Given the description of an element on the screen output the (x, y) to click on. 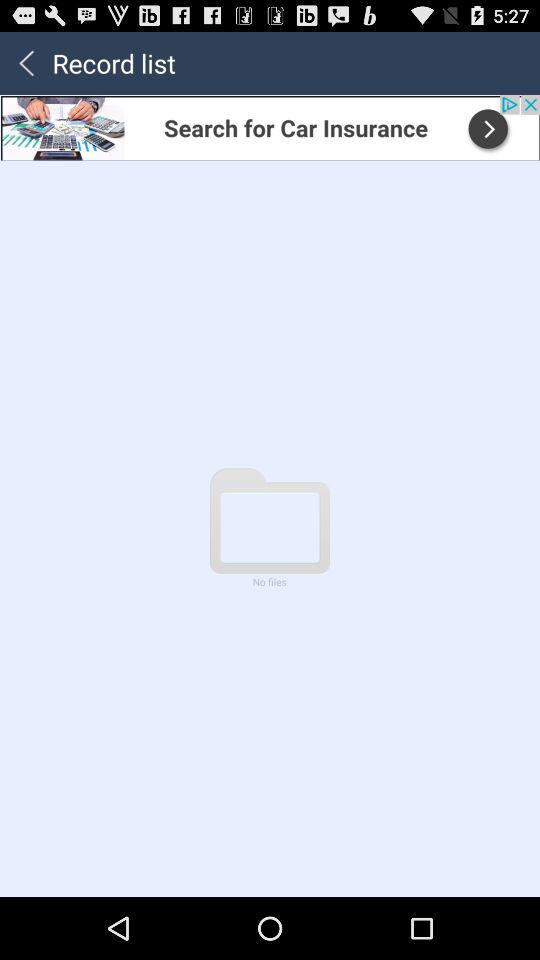
open advertisement (270, 127)
